Given the description of an element on the screen output the (x, y) to click on. 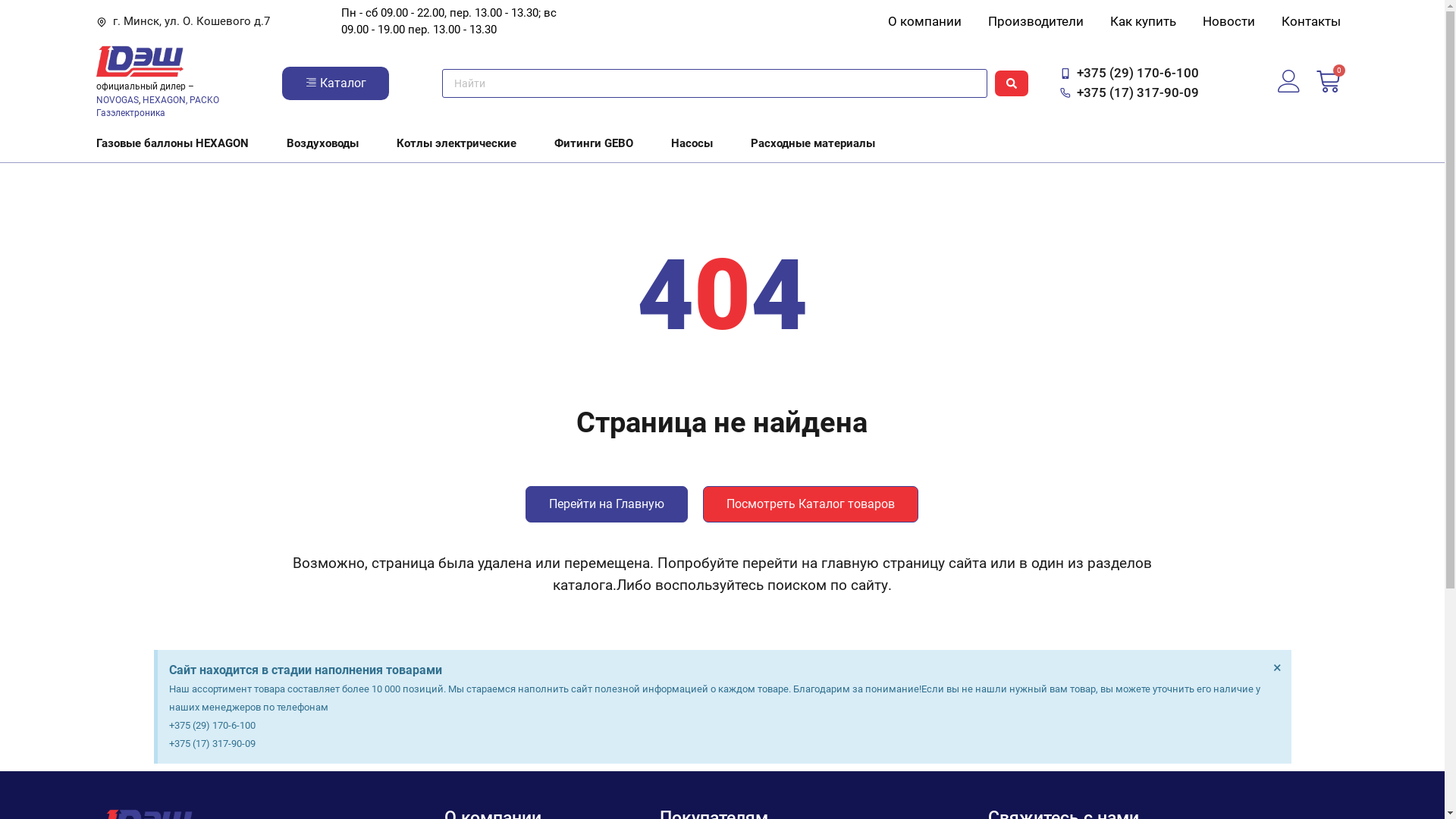
+375 (29) 170-6-100 Element type: text (1129, 73)
0 Element type: text (1327, 83)
HEXAGON, Element type: text (164, 99)
NOVOGAS Element type: text (117, 99)
+375 (17) 317-90-09 Element type: text (1129, 93)
